Given the description of an element on the screen output the (x, y) to click on. 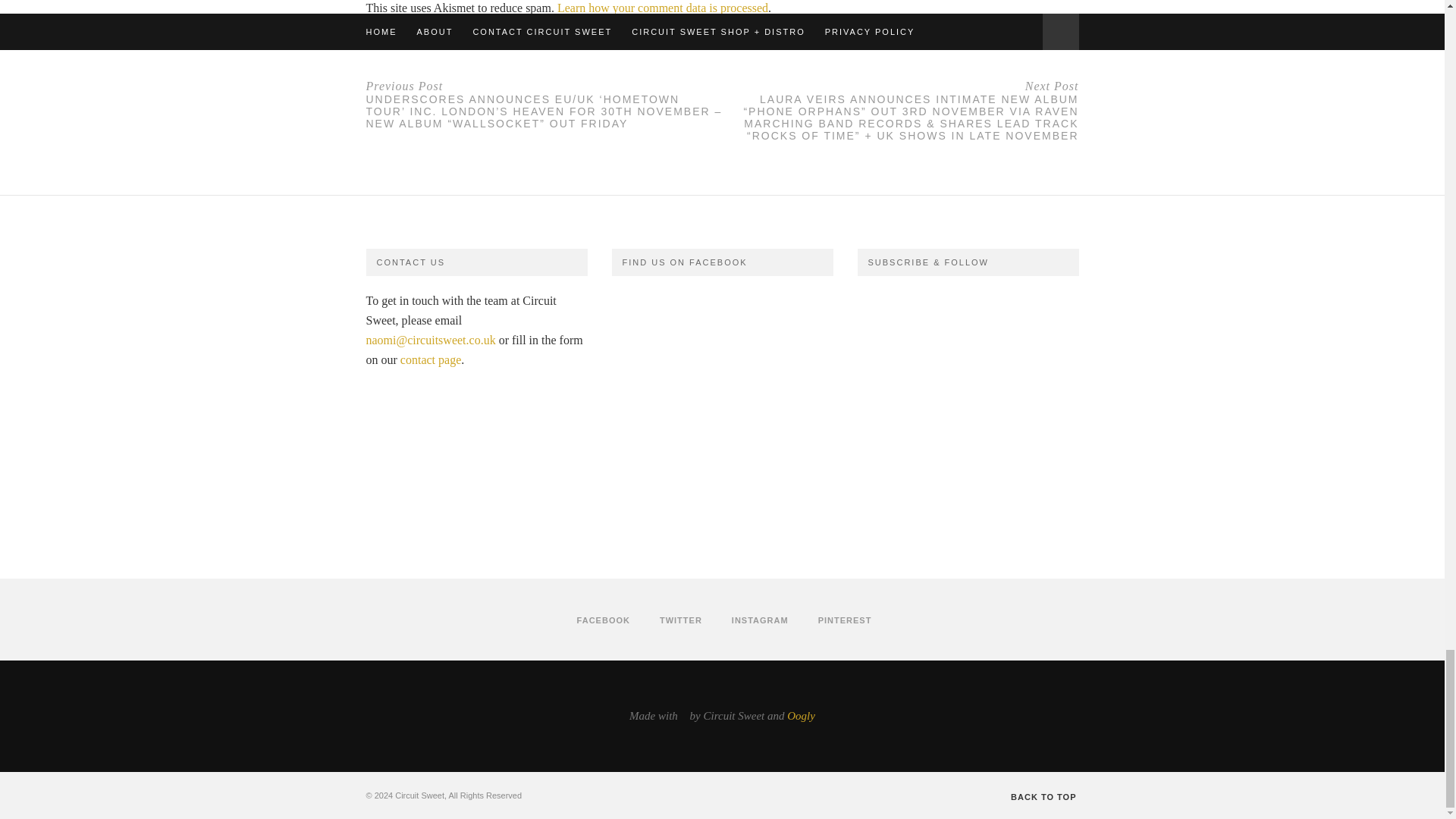
Learn how your comment data is processed (662, 7)
